Given the description of an element on the screen output the (x, y) to click on. 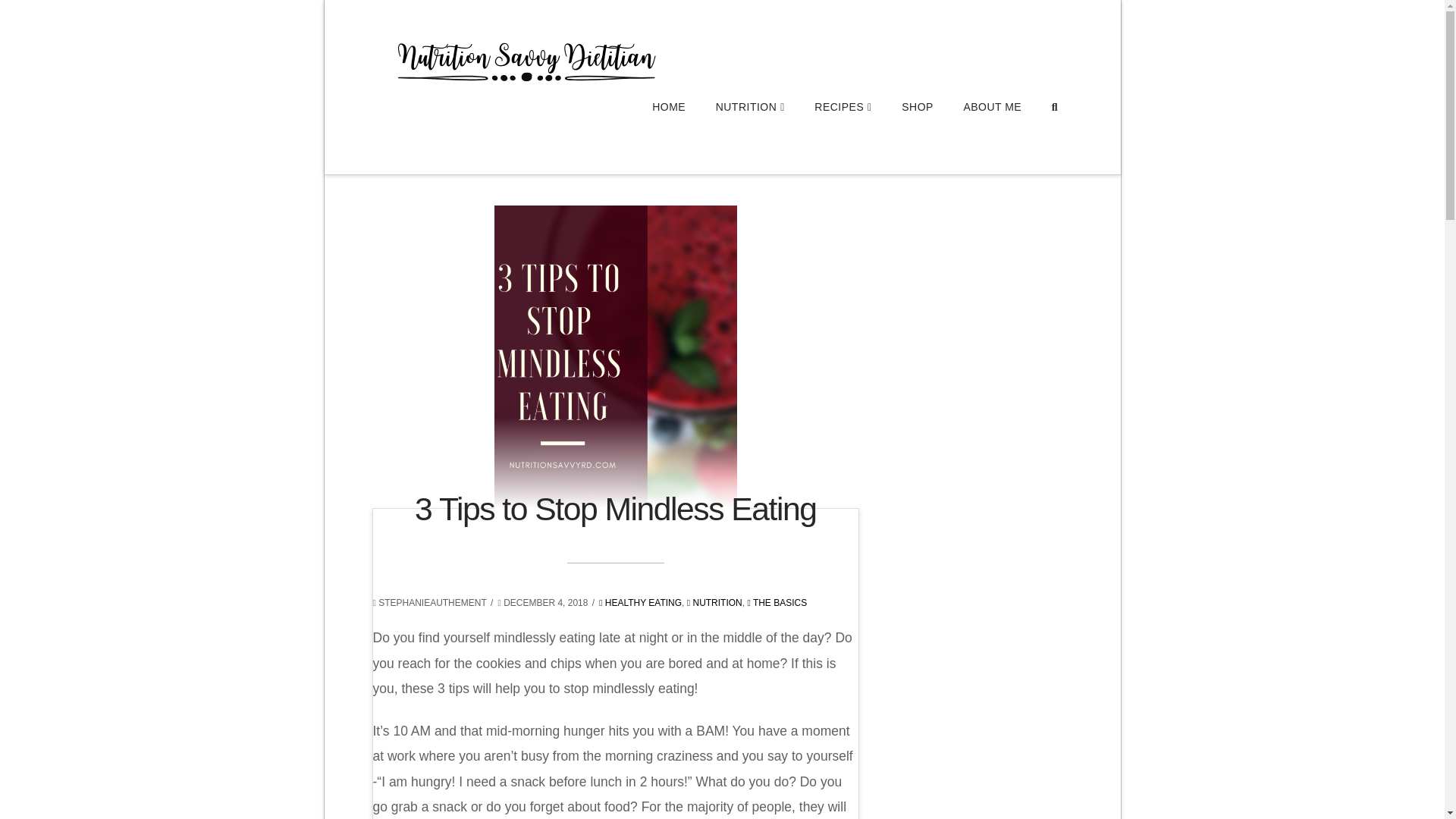
NUTRITION (749, 137)
ABOUT ME (991, 137)
RECIPES (842, 137)
